Given the description of an element on the screen output the (x, y) to click on. 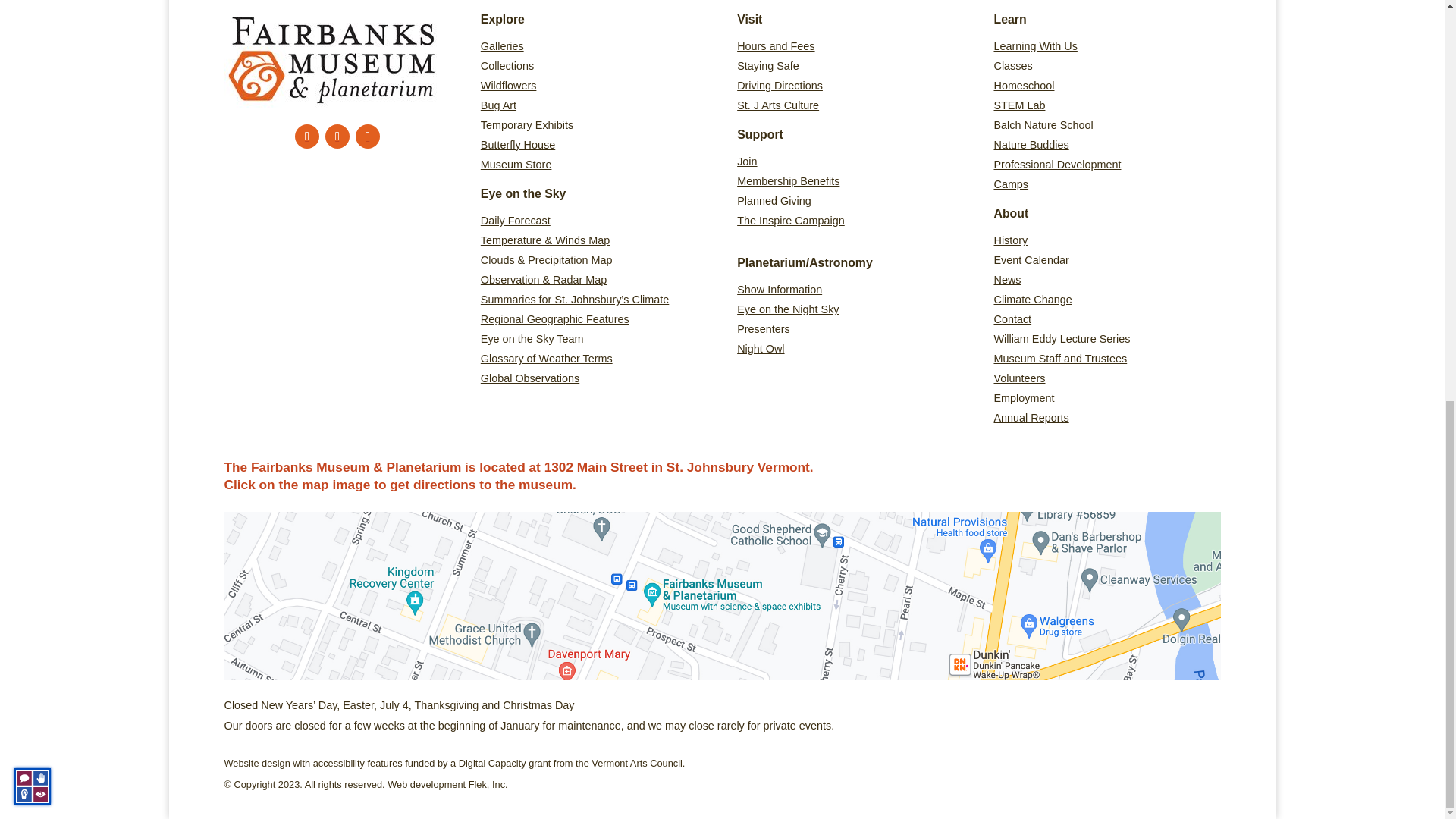
Launch Accessibility Center (32, 11)
Follow on Instagram (336, 136)
Follow on Facebook (306, 136)
Follow on LinkedIn (367, 136)
